Given the description of an element on the screen output the (x, y) to click on. 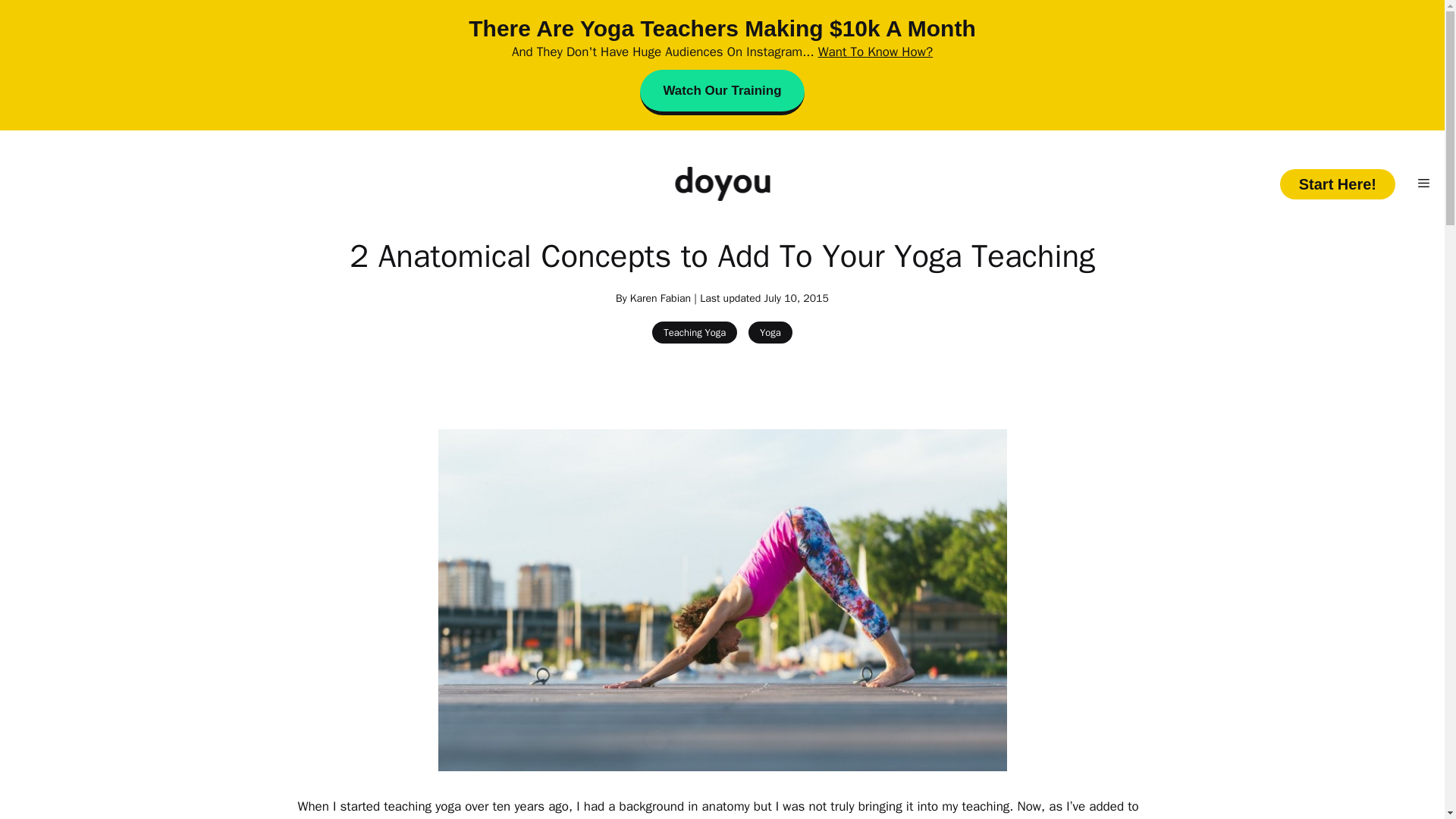
Yoga (770, 332)
Posts by Karen Fabian (660, 297)
Karen Fabian (660, 297)
DoYou (722, 183)
Watch Our Training (721, 92)
Teaching Yoga (694, 332)
Start Here! (1336, 183)
